Given the description of an element on the screen output the (x, y) to click on. 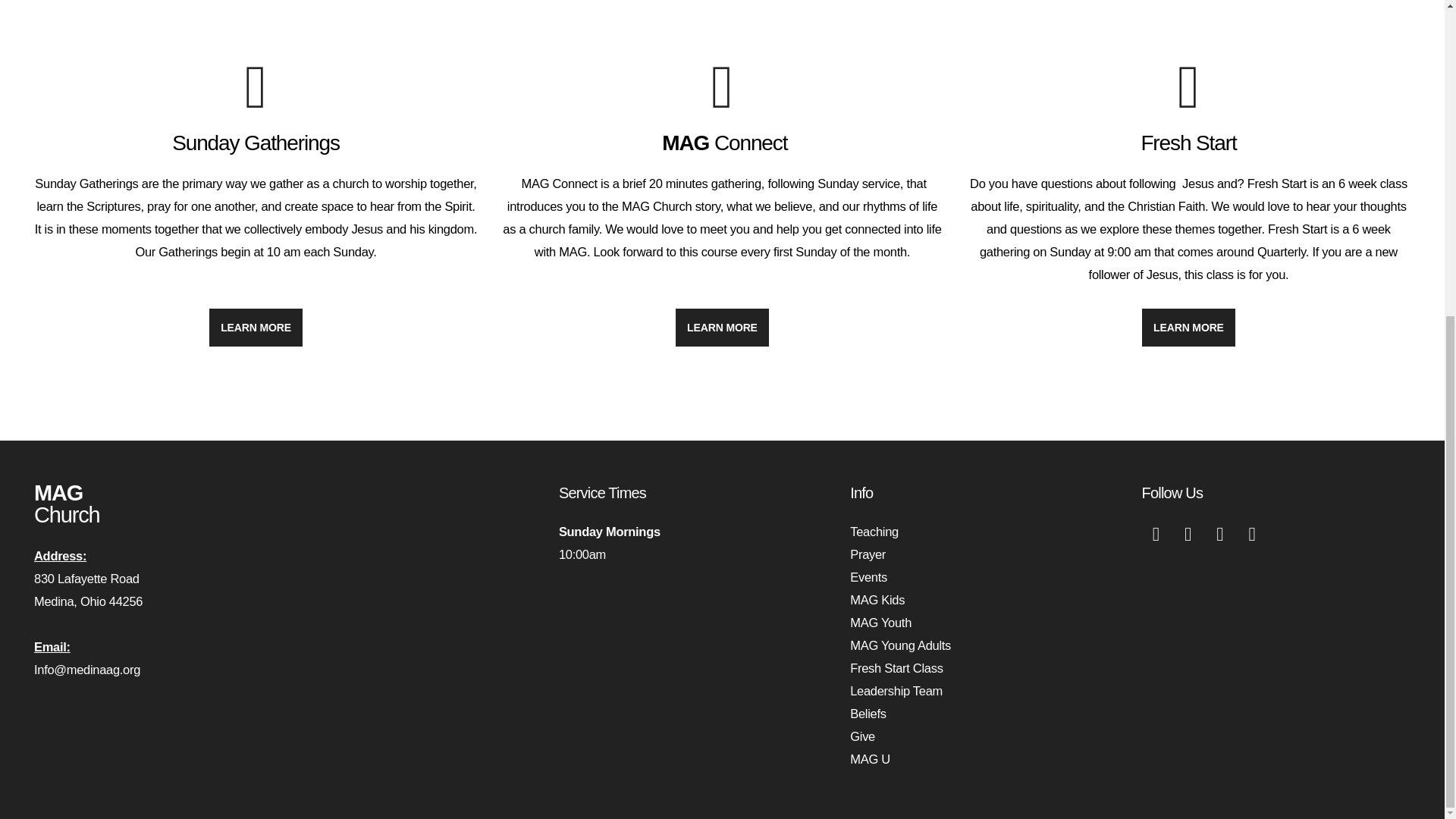
LEARN MORE (255, 327)
MAG U (869, 758)
MAG Youth (880, 622)
MAG Young Adults (900, 644)
Beliefs (867, 713)
Teaching (874, 531)
Fresh Start Class (896, 667)
MAG Kids (877, 599)
LEARN MORE (721, 327)
LEARN MORE (1187, 327)
